Given the description of an element on the screen output the (x, y) to click on. 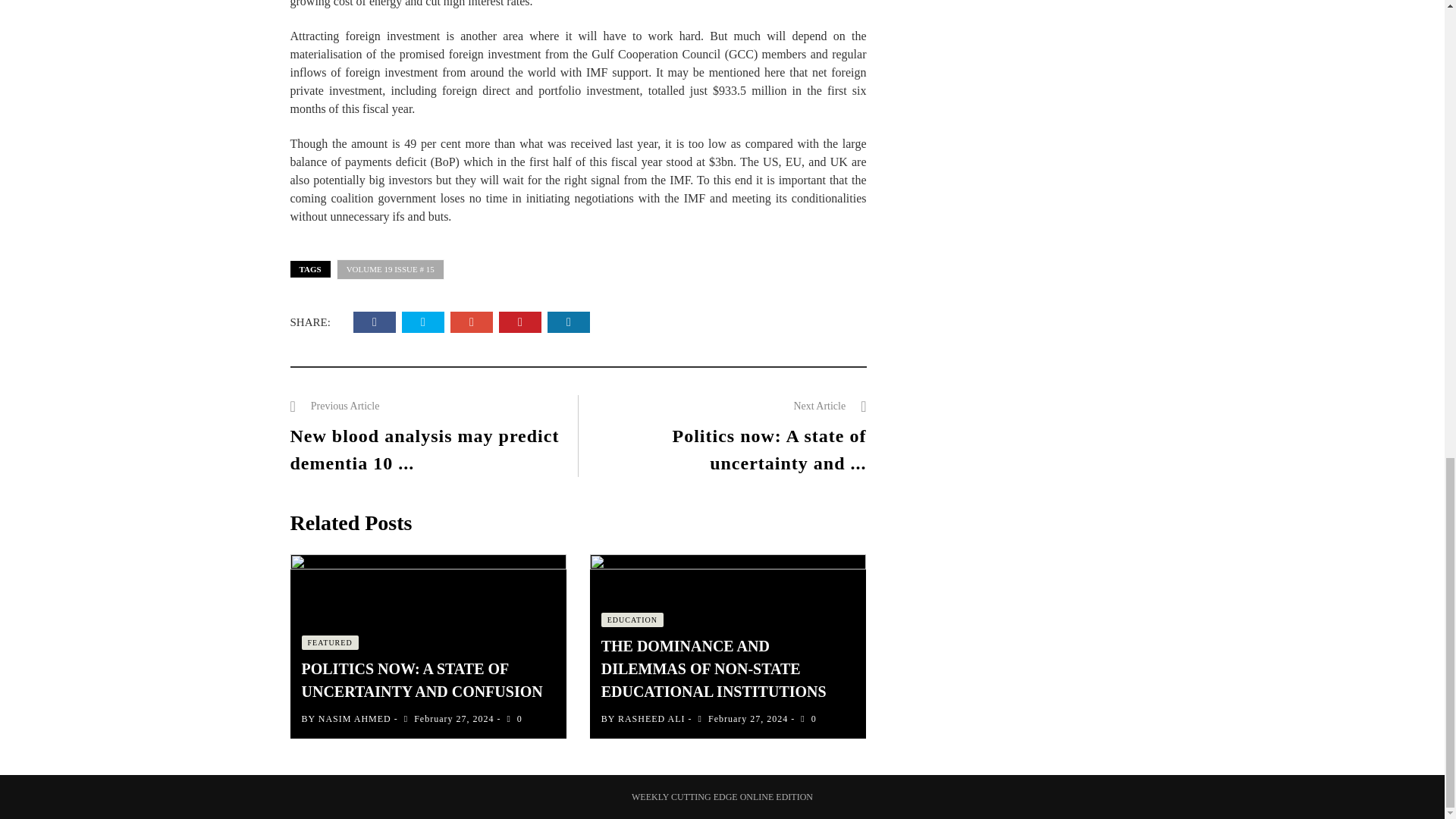
Posts by Rasheed Ali (651, 718)
EDUCATION (632, 619)
New blood analysis may predict dementia 10 ... (424, 449)
Posts by Nasim Ahmed (354, 718)
Politics now: A state of uncertainty and ... (769, 449)
POLITICS NOW: A STATE OF UNCERTAINTY AND CONFUSION (422, 680)
NASIM AHMED (354, 718)
FEATURED (329, 642)
